Given the description of an element on the screen output the (x, y) to click on. 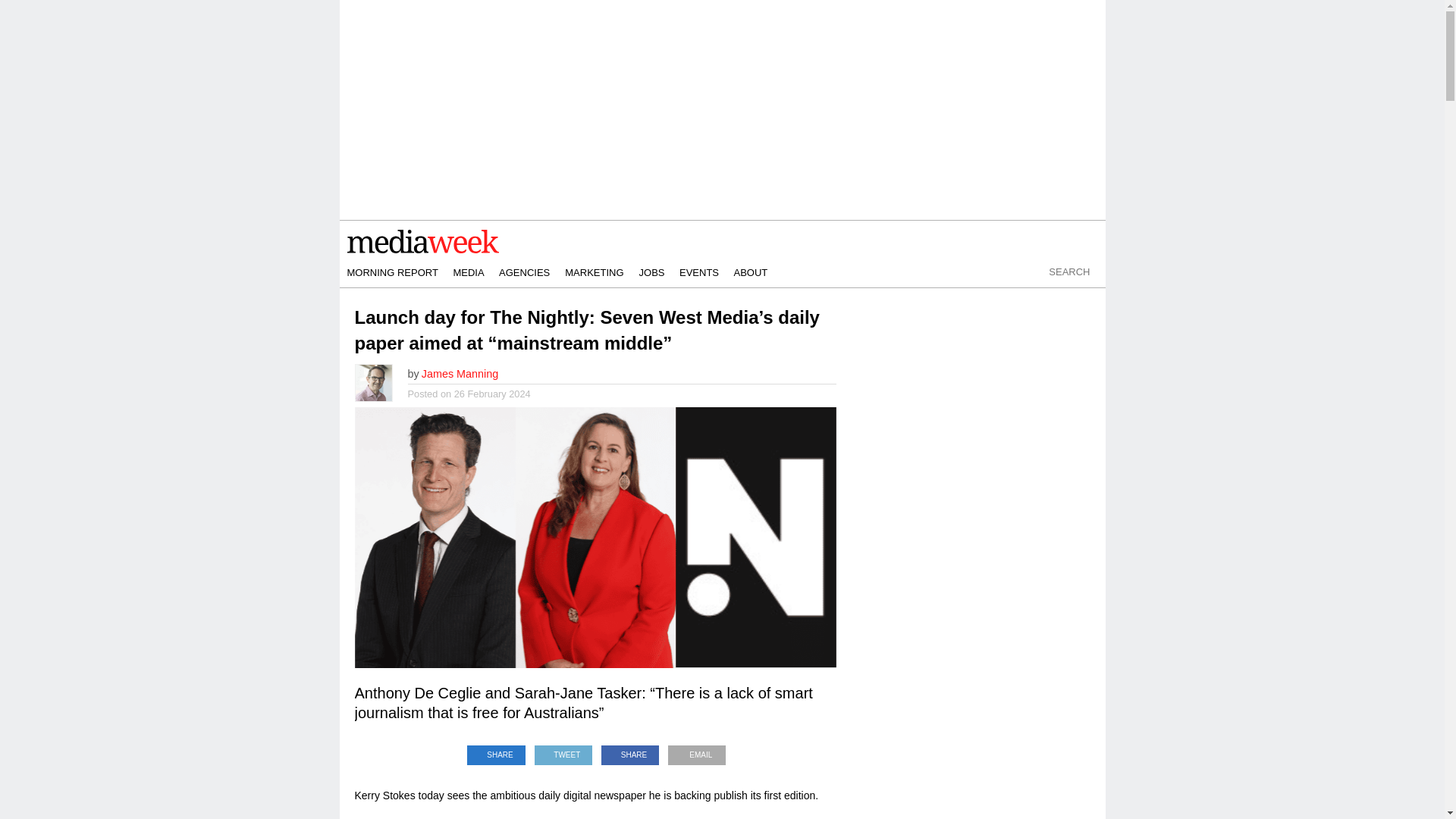
Posts by James Manning (460, 373)
Share on LinkedIn (496, 750)
Tweet This Post (563, 750)
Share on Facebook (630, 750)
